Given the description of an element on the screen output the (x, y) to click on. 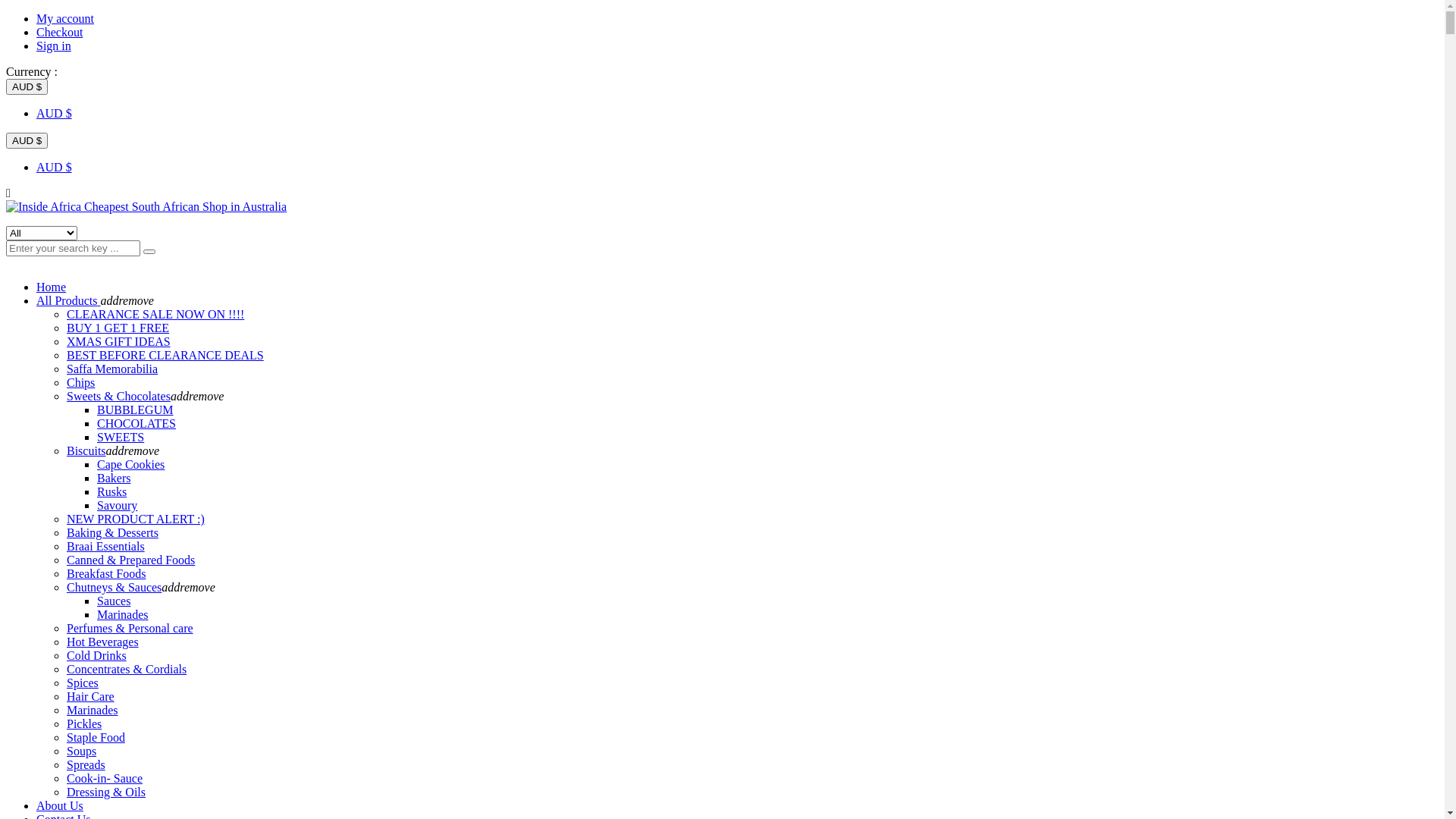
Pickles Element type: text (83, 723)
Baking & Desserts Element type: text (112, 532)
Sweets & Chocolates Element type: text (118, 395)
BUY 1 GET 1 FREE Element type: text (117, 327)
AUD $ Element type: text (54, 112)
Rusks Element type: text (111, 491)
Spreads Element type: text (85, 764)
Spices Element type: text (82, 682)
About Us Element type: text (59, 805)
Soups Element type: text (81, 750)
All Products Element type: text (68, 300)
Bakers Element type: text (113, 477)
CLEARANCE SALE NOW ON !!!! Element type: text (155, 313)
Hair Care Element type: text (90, 696)
AUD $ Element type: text (26, 86)
Cold Drinks Element type: text (96, 655)
My account Element type: text (65, 18)
Cape Cookies Element type: text (130, 464)
Concentrates & Cordials Element type: text (126, 668)
Savoury Element type: text (117, 504)
Checkout Element type: text (59, 31)
Sauces Element type: text (113, 600)
BUBBLEGUM Element type: text (134, 409)
XMAS GIFT IDEAS Element type: text (118, 341)
AUD $ Element type: text (26, 140)
Marinades Element type: text (122, 614)
Canned & Prepared Foods Element type: text (130, 559)
Sign in Element type: text (53, 45)
Home Element type: text (50, 286)
NEW PRODUCT ALERT :) Element type: text (135, 518)
Breakfast Foods Element type: text (105, 573)
Cook-in- Sauce Element type: text (104, 777)
Chips Element type: text (80, 382)
Braai Essentials Element type: text (105, 545)
Saffa Memorabilia Element type: text (111, 368)
Staple Food Element type: text (95, 737)
Biscuits Element type: text (86, 450)
CHOCOLATES Element type: text (136, 423)
Hot Beverages Element type: text (102, 641)
Marinades Element type: text (92, 709)
SWEETS Element type: text (120, 436)
Chutneys & Sauces Element type: text (113, 586)
Dressing & Oils Element type: text (105, 791)
BEST BEFORE CLEARANCE DEALS Element type: text (164, 354)
AUD $ Element type: text (54, 166)
Perfumes & Personal care Element type: text (129, 627)
